Given the description of an element on the screen output the (x, y) to click on. 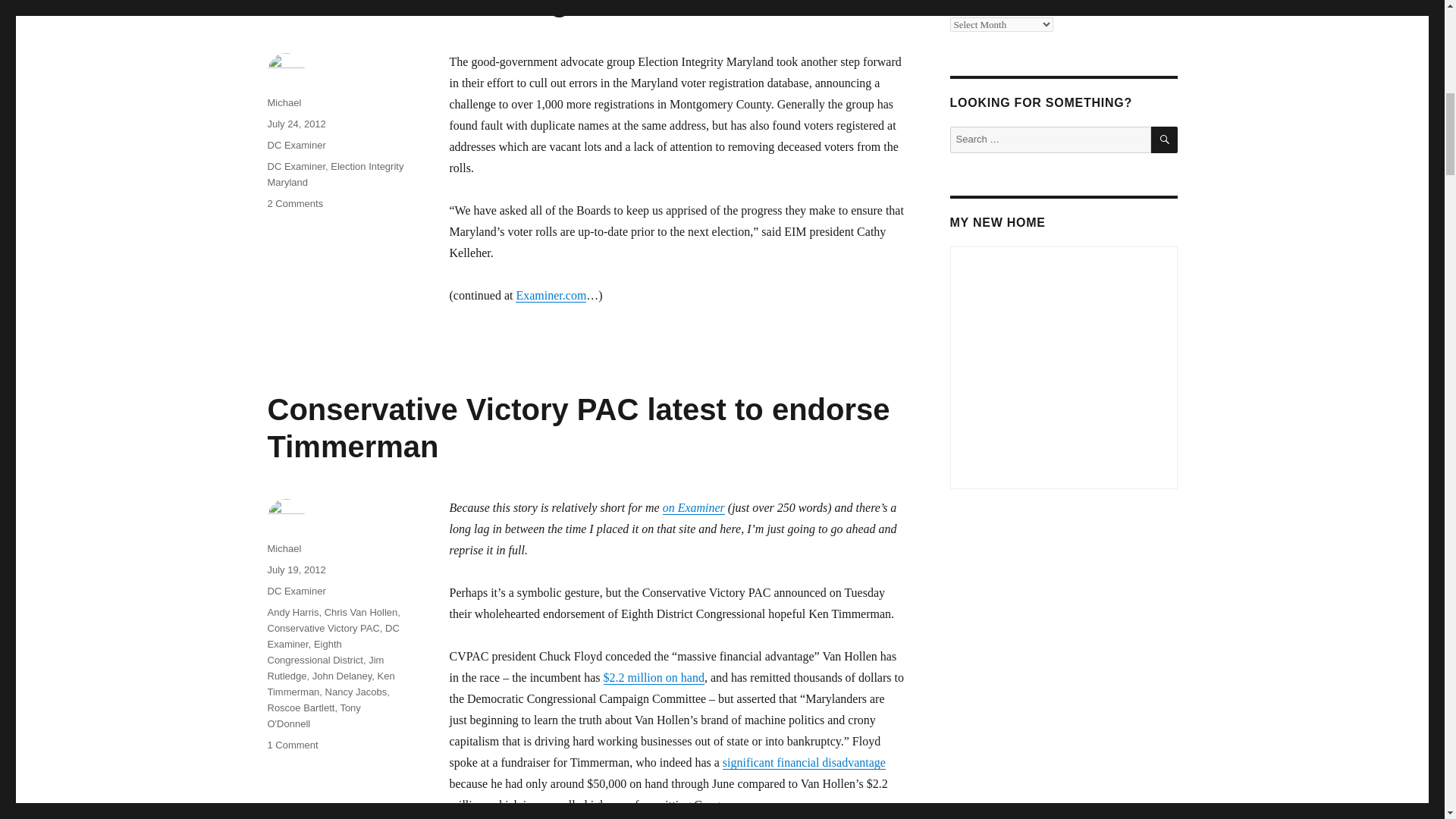
Andy Harris (292, 612)
DC Examiner (332, 636)
DC Examiner (295, 591)
Eighth Congressional District (314, 651)
July 24, 2012 (295, 123)
John Delaney (342, 675)
significant financial disadvantage (803, 762)
on Examiner (693, 507)
